Given the description of an element on the screen output the (x, y) to click on. 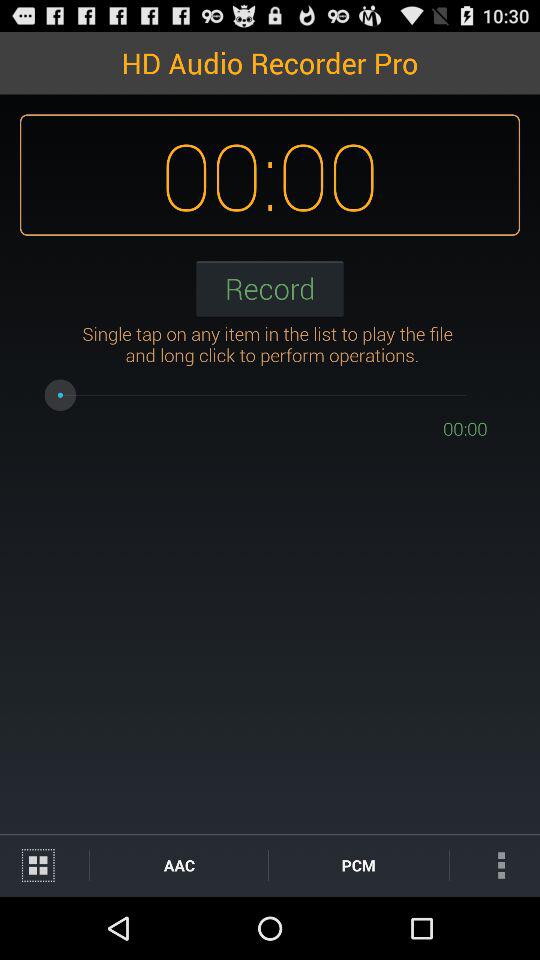
launch the icon next to the aac icon (358, 864)
